Given the description of an element on the screen output the (x, y) to click on. 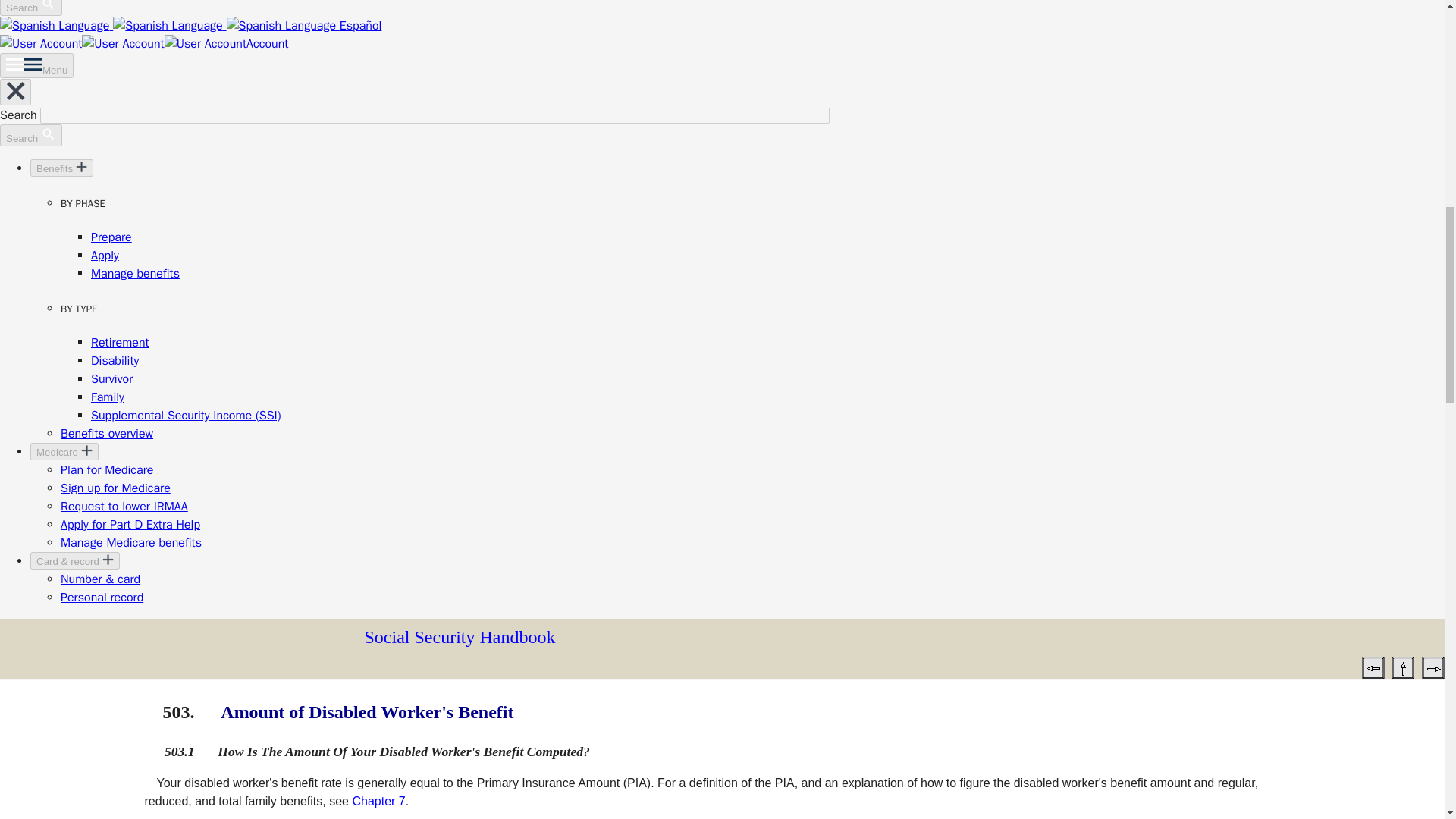
503.1 (179, 751)
503. (177, 711)
Figuring the Cash Benefit Rate (378, 800)
Chapter 7 (378, 800)
Section 502 (1372, 667)
Table of Contents (1402, 667)
Table of Contents (1402, 667)
Previous Section (1372, 667)
Social Security Handbook (459, 637)
